Given the description of an element on the screen output the (x, y) to click on. 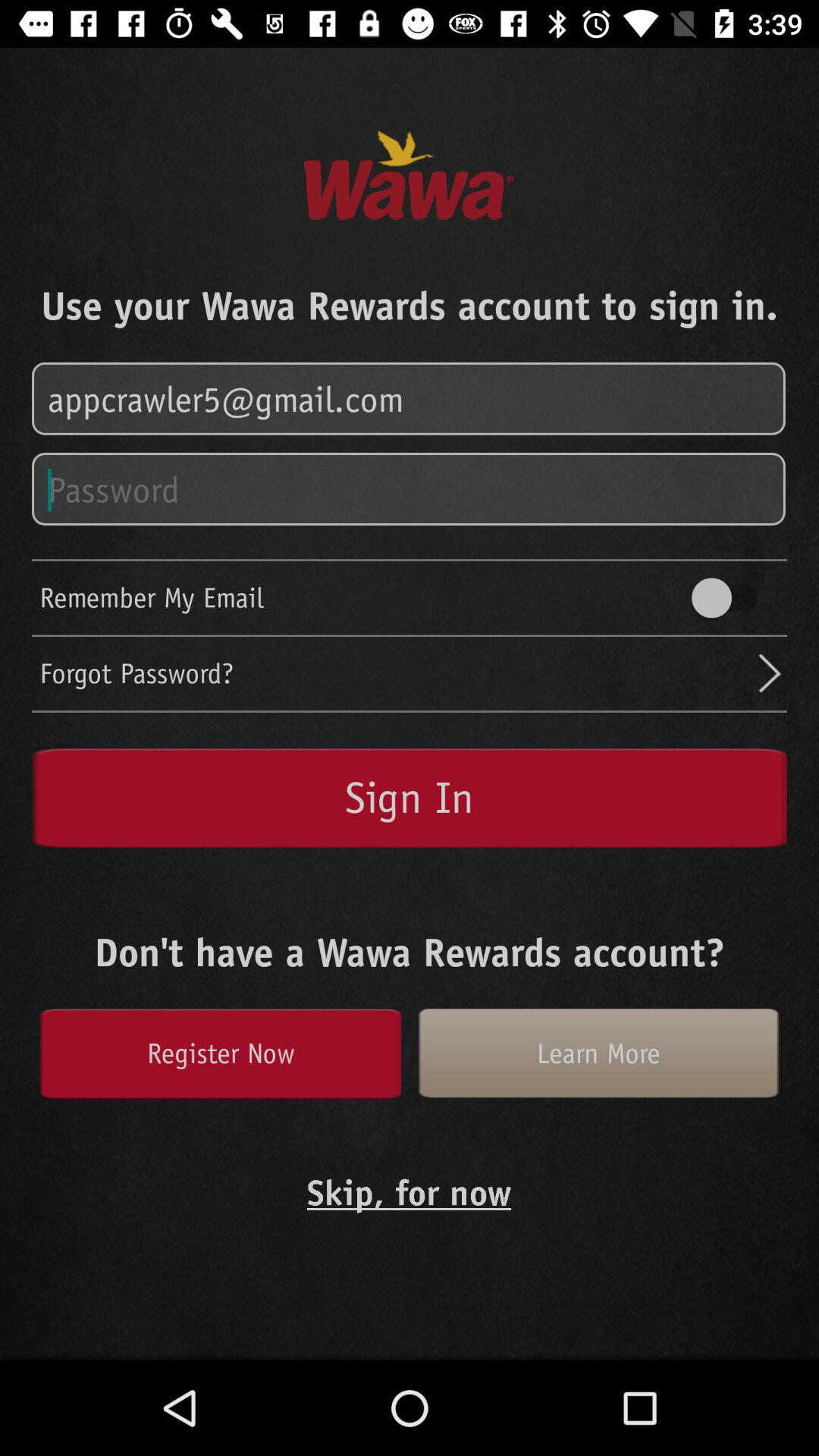
swipe to the learn more (598, 1053)
